Given the description of an element on the screen output the (x, y) to click on. 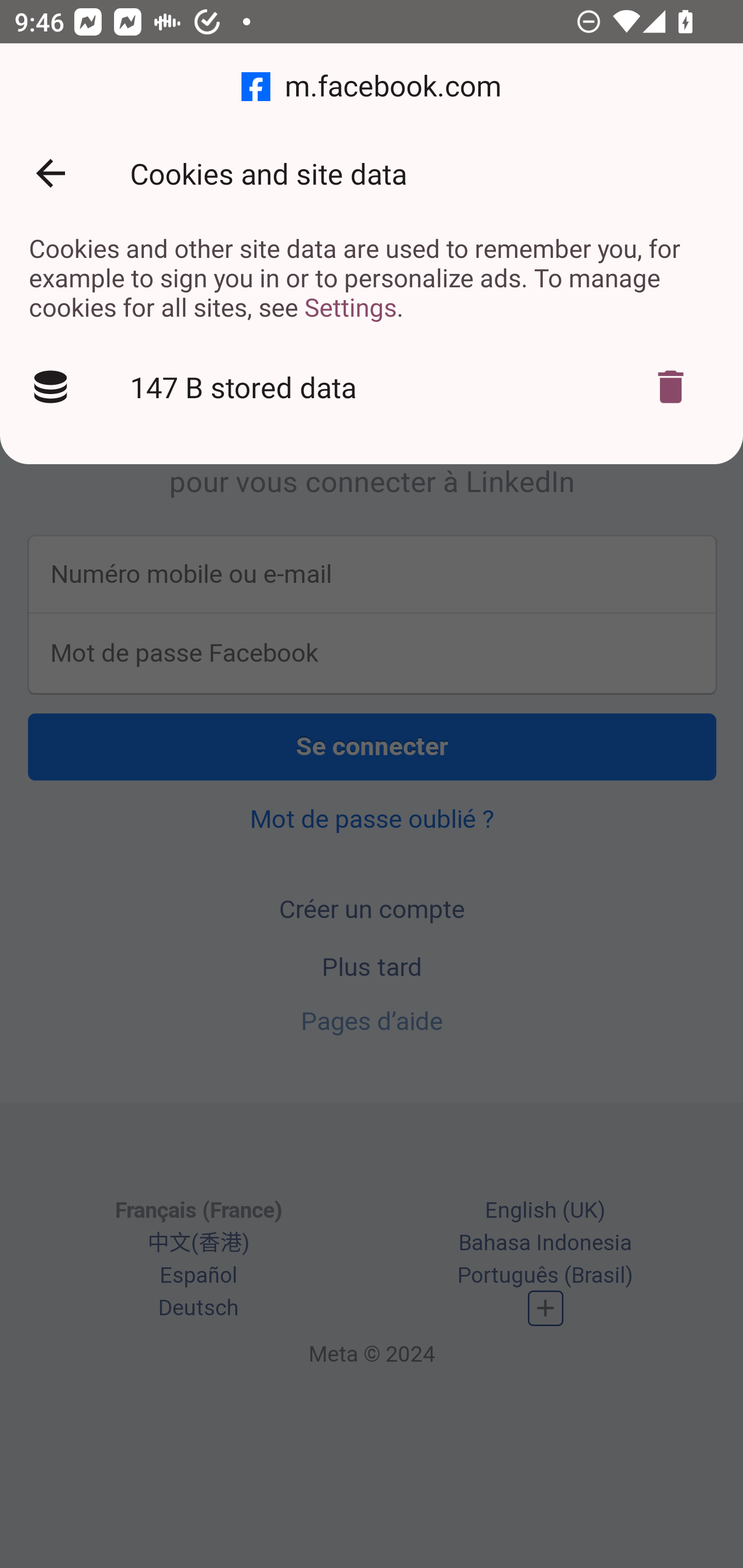
m.facebook.com (371, 86)
Back (50, 173)
147 B stored data Delete cookies? (371, 386)
